Given the description of an element on the screen output the (x, y) to click on. 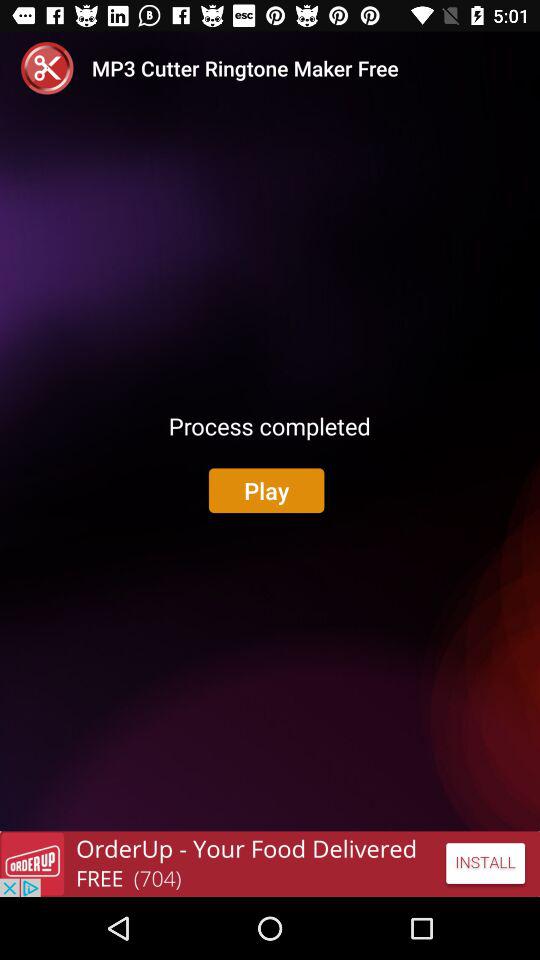
advertisement banner (270, 864)
